Given the description of an element on the screen output the (x, y) to click on. 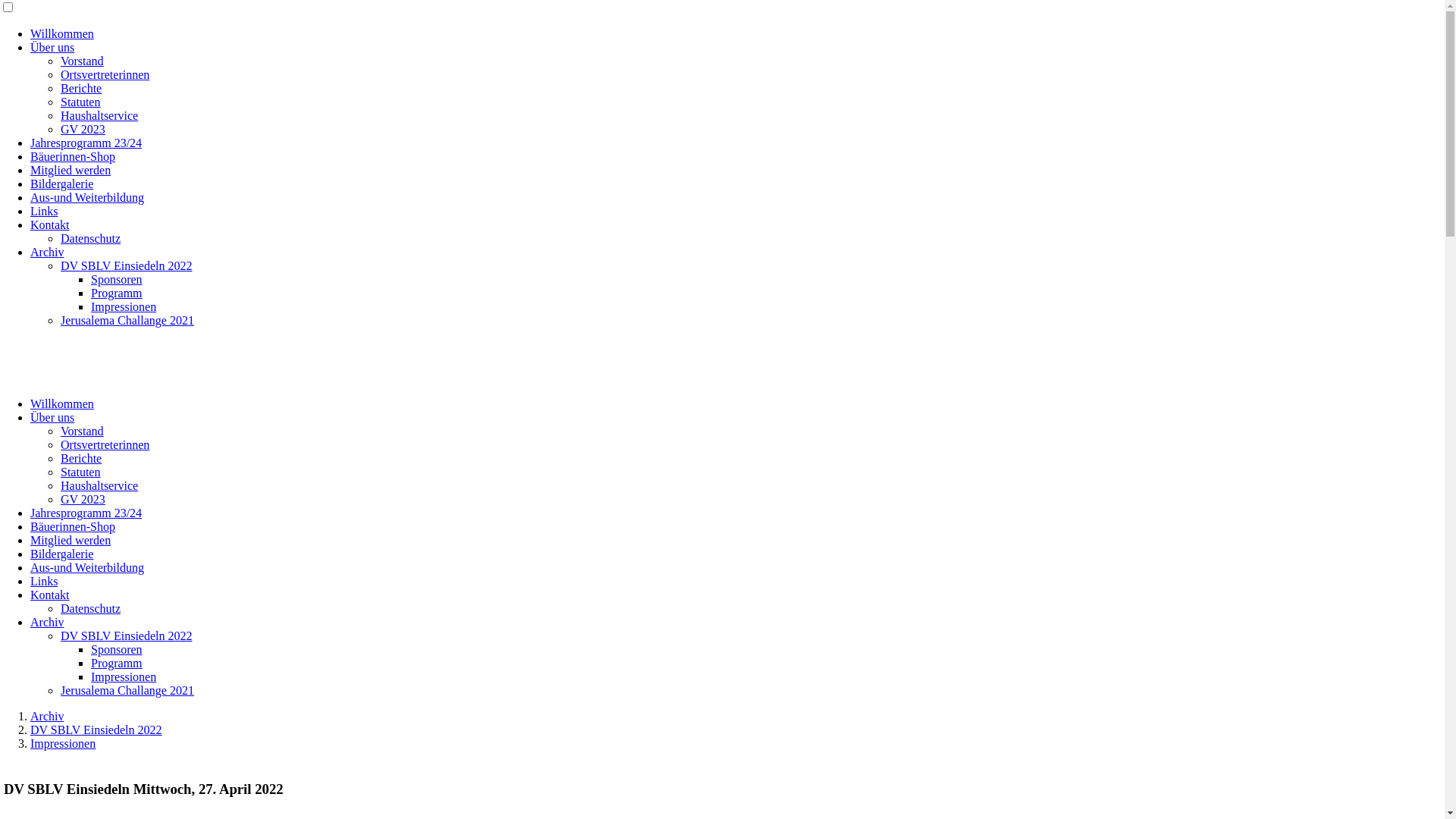
Impressionen Element type: text (123, 676)
Ortsvertreterinnen Element type: text (104, 444)
Jahresprogramm 23/24 Element type: text (85, 142)
GV 2023 Element type: text (82, 498)
Statuten Element type: text (80, 101)
Berichte Element type: text (80, 87)
Willkommen Element type: text (62, 33)
Kontakt Element type: text (49, 224)
Datenschutz Element type: text (90, 238)
Archiv Element type: text (46, 715)
DV SBLV Einsiedeln 2022 Element type: text (126, 265)
Aus-und Weiterbildung Element type: text (87, 197)
Kontakt Element type: text (49, 594)
Sponsoren Element type: text (116, 279)
Berichte Element type: text (80, 457)
Haushaltservice Element type: text (99, 485)
Impressionen Element type: text (62, 743)
Links Element type: text (43, 210)
GV 2023 Element type: text (82, 128)
Archiv Element type: text (46, 251)
DV SBLV Einsiedeln 2022 Element type: text (96, 729)
Jahresprogramm 23/24 Element type: text (85, 512)
Sponsoren Element type: text (116, 649)
DV SBLV Einsiedeln 2022 Element type: text (126, 635)
Impressionen Element type: text (123, 306)
Jerusalema Challange 2021 Element type: text (127, 690)
Vorstand Element type: text (81, 60)
Bildergalerie Element type: text (61, 553)
Programm Element type: text (116, 292)
Mitglied werden Element type: text (70, 539)
Haushaltservice Element type: text (99, 115)
Bildergalerie Element type: text (61, 183)
Jerusalema Challange 2021 Element type: text (127, 319)
Archiv Element type: text (46, 621)
Aus-und Weiterbildung Element type: text (87, 567)
Mitglied werden Element type: text (70, 169)
Programm Element type: text (116, 662)
Ortsvertreterinnen Element type: text (104, 74)
Willkommen Element type: text (62, 403)
Vorstand Element type: text (81, 430)
Links Element type: text (43, 580)
Statuten Element type: text (80, 471)
Datenschutz Element type: text (90, 608)
